Given the description of an element on the screen output the (x, y) to click on. 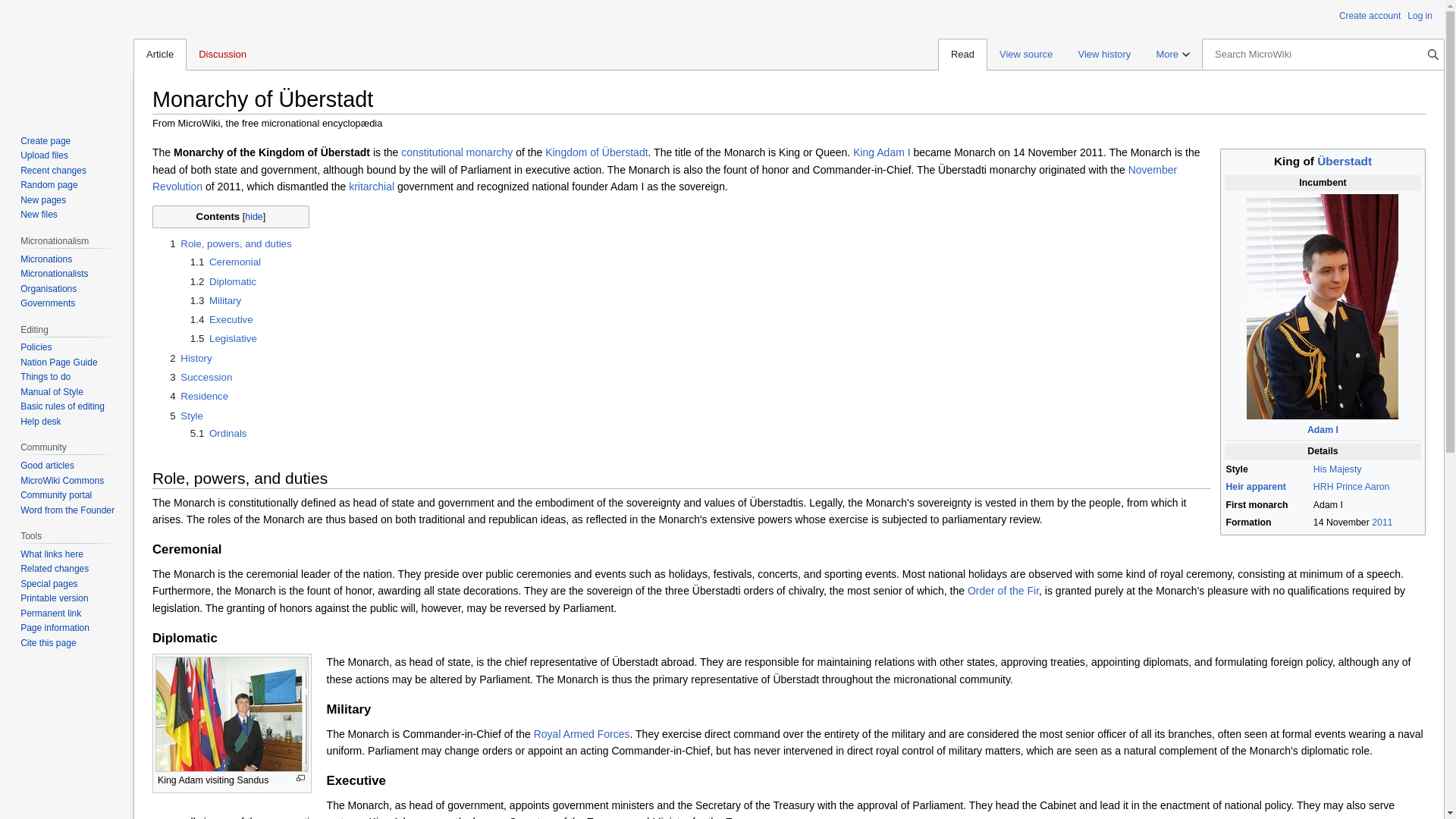
November Revolution (664, 177)
1 Role, powers, and duties (230, 243)
3 Succession (200, 377)
1.4 Executive (221, 319)
Constitutional monarchy (456, 152)
2011 (1381, 521)
4 Residence (199, 396)
1.1 Ceremonial (225, 261)
1.2 Diplomatic (223, 281)
List of heirs apparent (1255, 486)
